Given the description of an element on the screen output the (x, y) to click on. 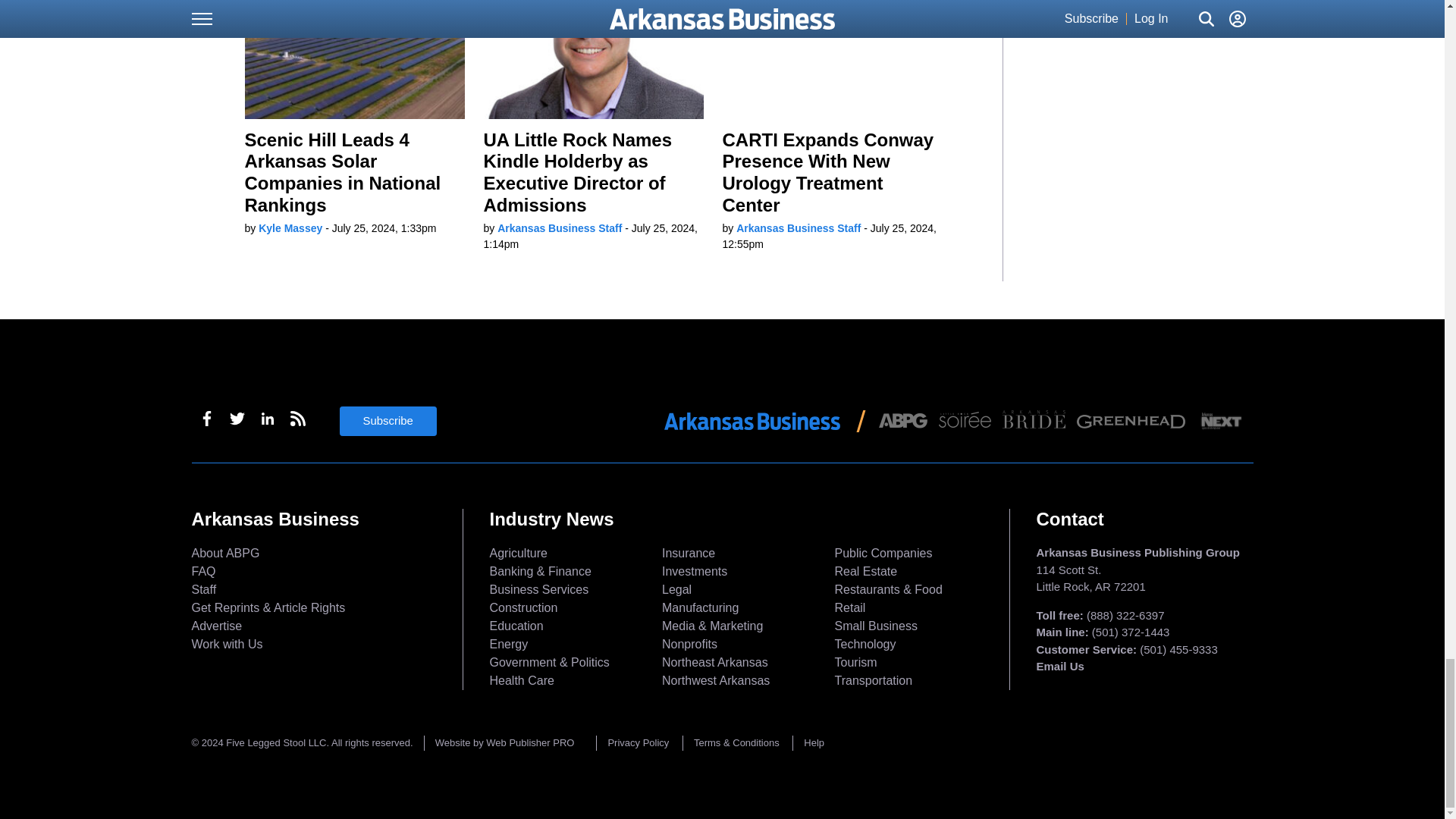
Posts by Arkansas Business Staff (798, 227)
Posts by Kyle Massey (290, 227)
Posts by Arkansas Business Staff (559, 227)
